Given the description of an element on the screen output the (x, y) to click on. 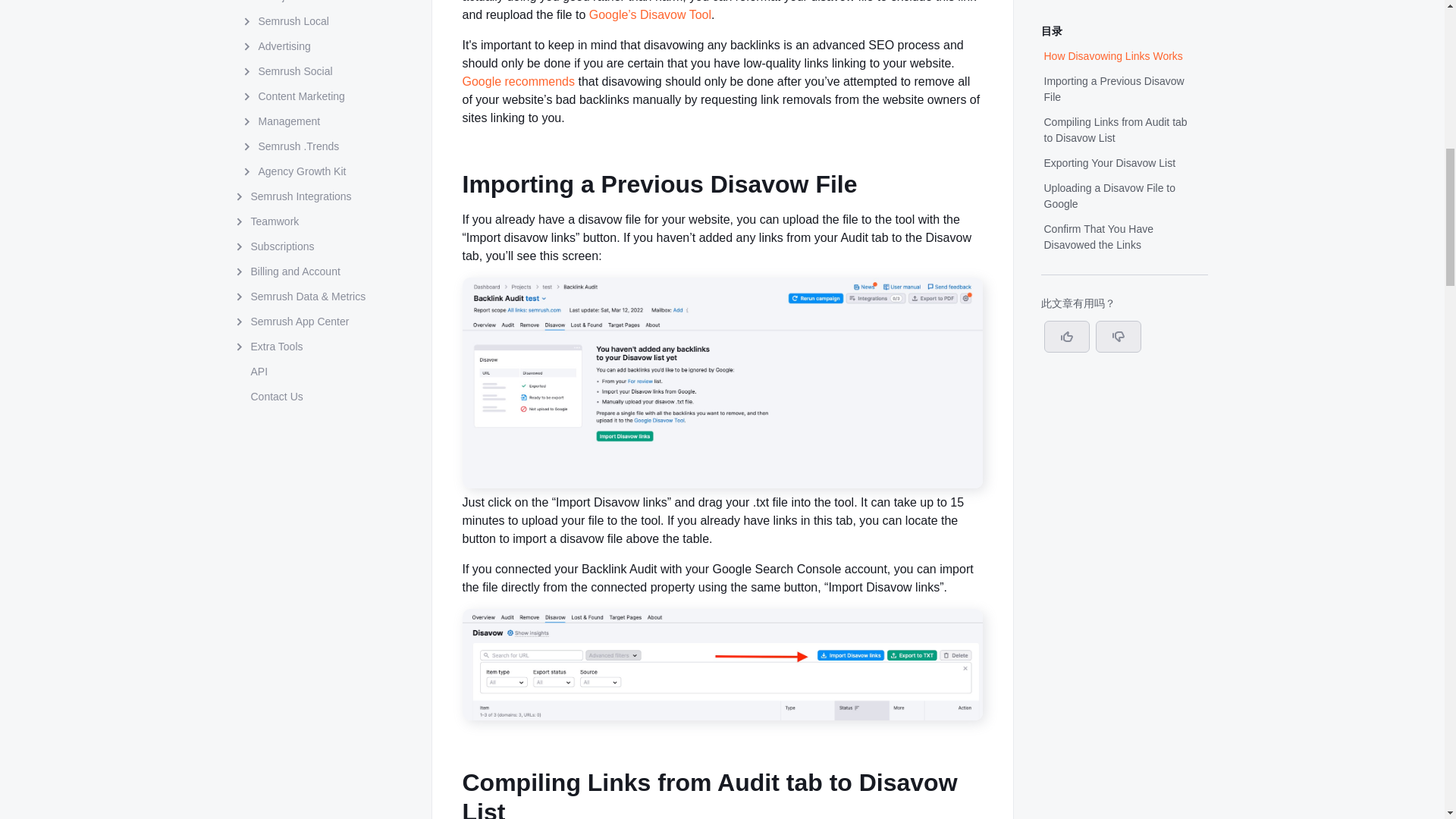
Example of the empty Disavow tab.  (722, 483)
A red arrow points towards the import disavow links button.  (722, 716)
